Given the description of an element on the screen output the (x, y) to click on. 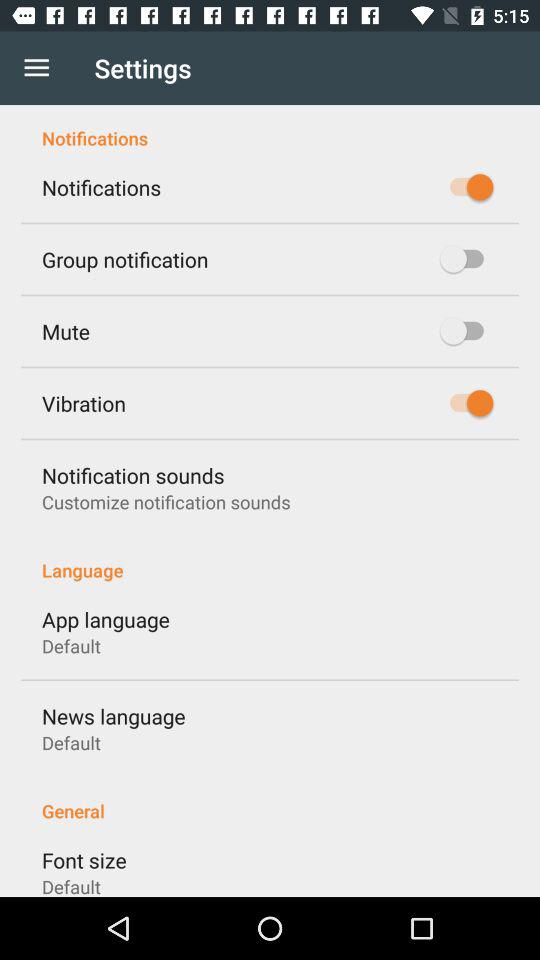
open item next to settings icon (36, 68)
